Given the description of an element on the screen output the (x, y) to click on. 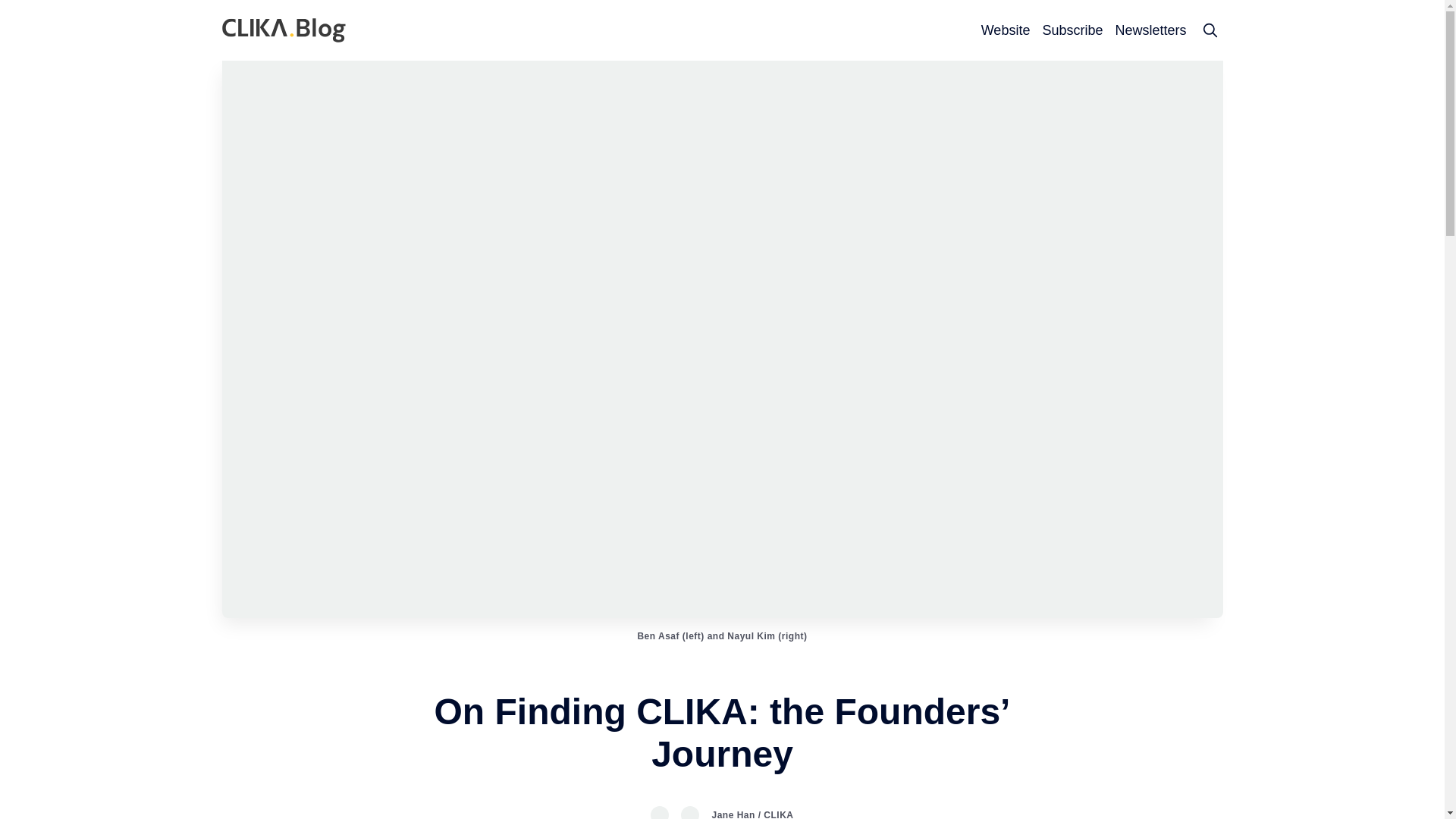
Website (1005, 30)
CLIKA (777, 814)
Newsletters (1150, 30)
Subscribe (1072, 30)
Jane Han (732, 814)
